Given the description of an element on the screen output the (x, y) to click on. 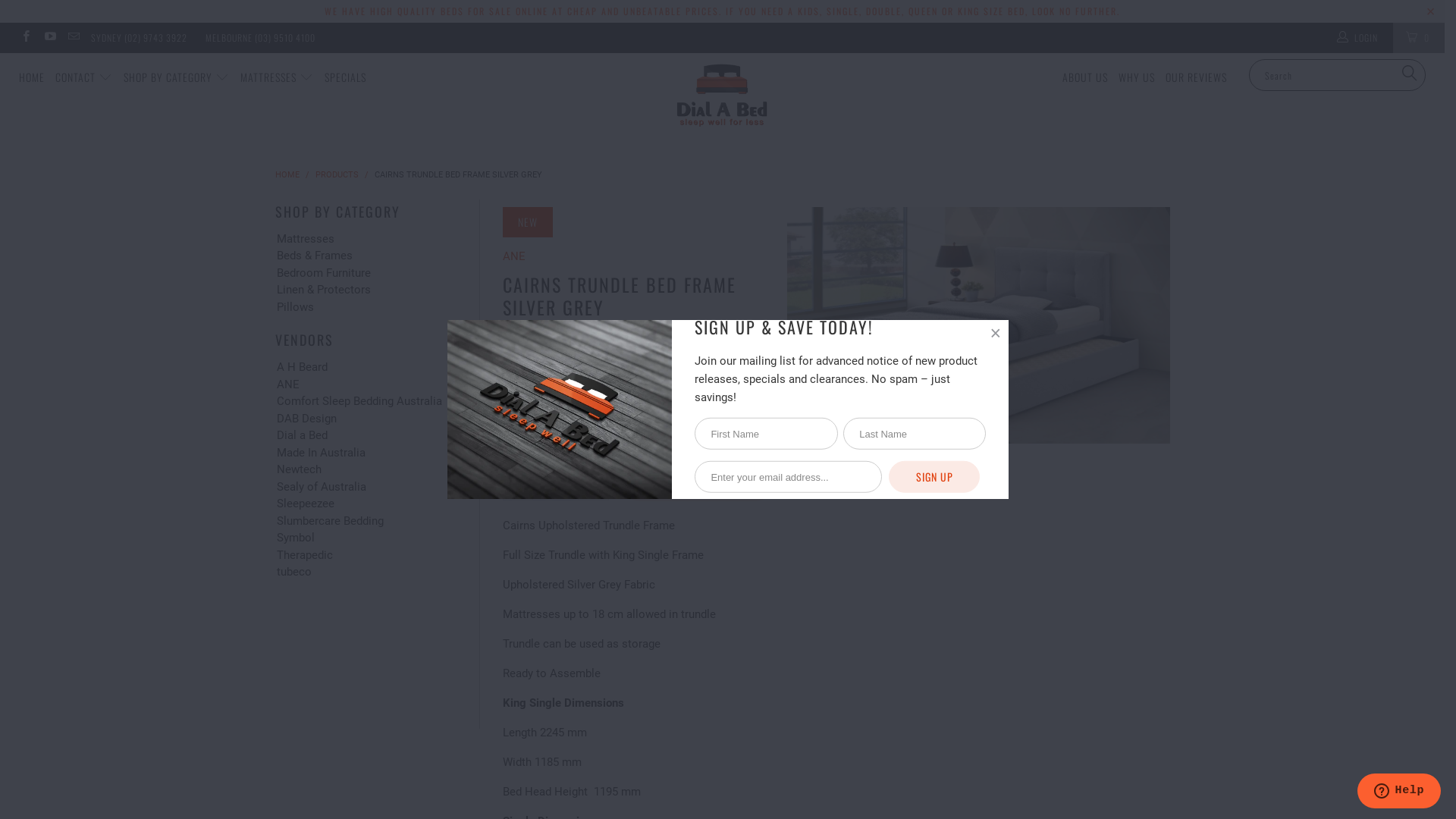
Made In Australia Element type: text (366, 452)
SYDNEY (02) 9743 3922 Element type: text (139, 37)
ABOUT US Element type: text (1084, 78)
Opens a widget where you can chat to one of our agents Element type: hover (1398, 792)
Dial a Bed Element type: hover (721, 95)
CONTACT Element type: text (83, 78)
Bedroom Furniture Element type: text (366, 273)
Pillows Element type: text (366, 307)
tubeco Element type: text (366, 571)
Therapedic Element type: text (366, 555)
Dial a Bed on Facebook Element type: hover (24, 37)
Symbol Element type: text (366, 537)
MELBOURNE (03) 9510 4100 Element type: text (260, 37)
Sealy of Australia Element type: text (366, 487)
Size Guide Element type: text (736, 353)
SHOP BY CATEGORY Element type: text (176, 78)
MATTRESSES Element type: text (276, 78)
HOME Element type: text (286, 174)
Linen & Protectors Element type: text (366, 289)
ANE Element type: text (366, 384)
Dial a Bed on YouTube Element type: hover (48, 37)
SPECIALS Element type: text (345, 78)
ANE Element type: text (513, 256)
Dial a Bed Element type: text (366, 435)
Slumbercare Bedding Element type: text (366, 521)
Sign Up Element type: text (933, 476)
A H Beard Element type: text (366, 367)
Newtech Element type: text (366, 469)
LOGIN Element type: text (1357, 37)
0 Element type: text (1418, 37)
DAB Design Element type: text (366, 418)
WHY US Element type: text (1136, 78)
Mattresses Element type: text (366, 239)
Sleepeezee Element type: text (366, 503)
Beds & Frames Element type: text (366, 255)
HOME Element type: text (31, 78)
ADD TO CART Element type: text (697, 485)
PRODUCTS Element type: text (336, 174)
Comfort Sleep Bedding Australia Element type: text (366, 401)
OUR REVIEWS Element type: text (1195, 78)
Email Dial a Bed Element type: hover (72, 37)
